Given the description of an element on the screen output the (x, y) to click on. 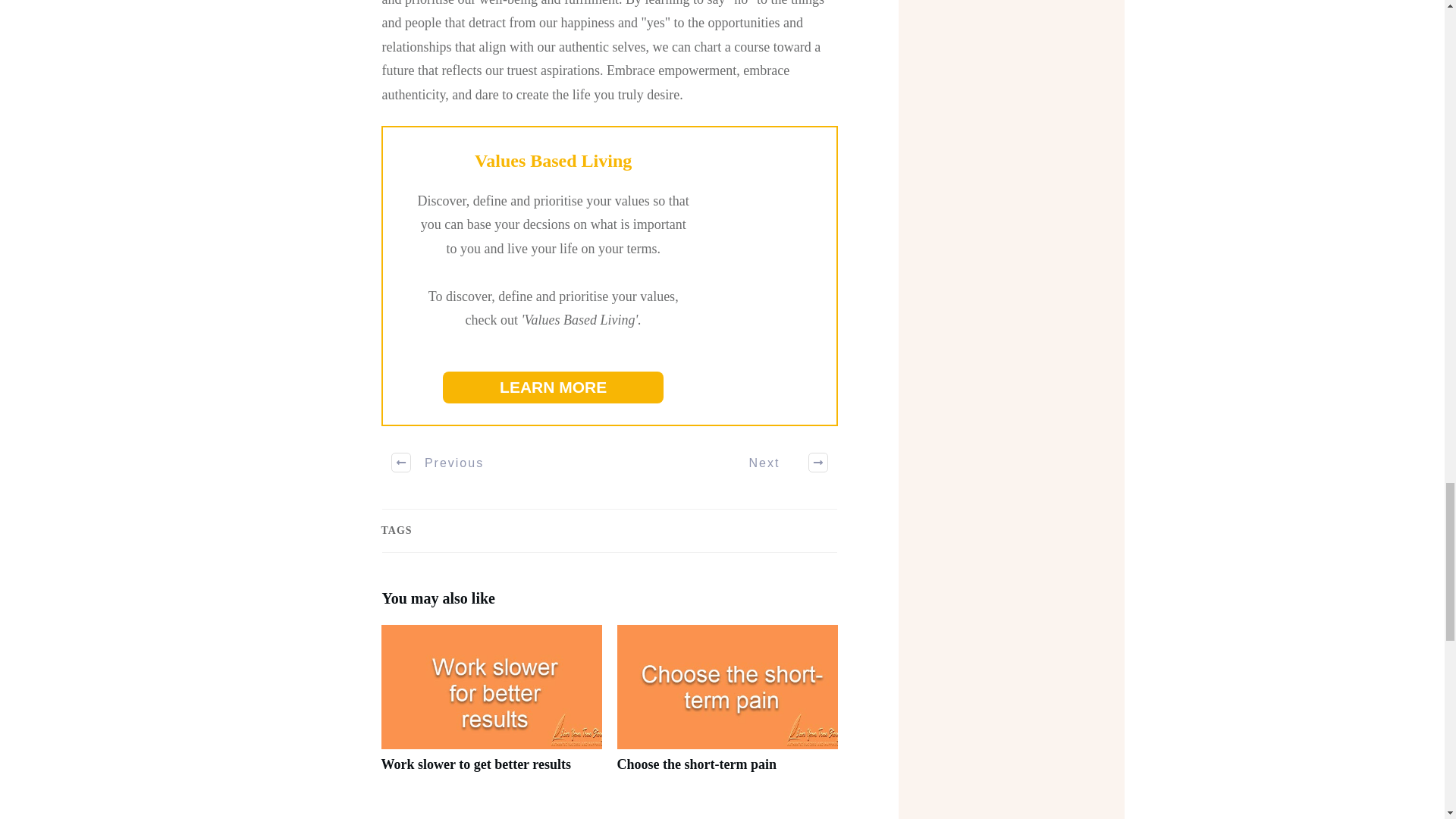
Work slower to get better results (475, 764)
Choose the short-term pain (696, 764)
Work slower to get better results (490, 706)
LEARN MORE (552, 387)
Previous (438, 462)
Choose the short-term pain (696, 764)
Work slower to get better results (475, 764)
Next (780, 462)
Choose the short-term pain (727, 706)
